Given the description of an element on the screen output the (x, y) to click on. 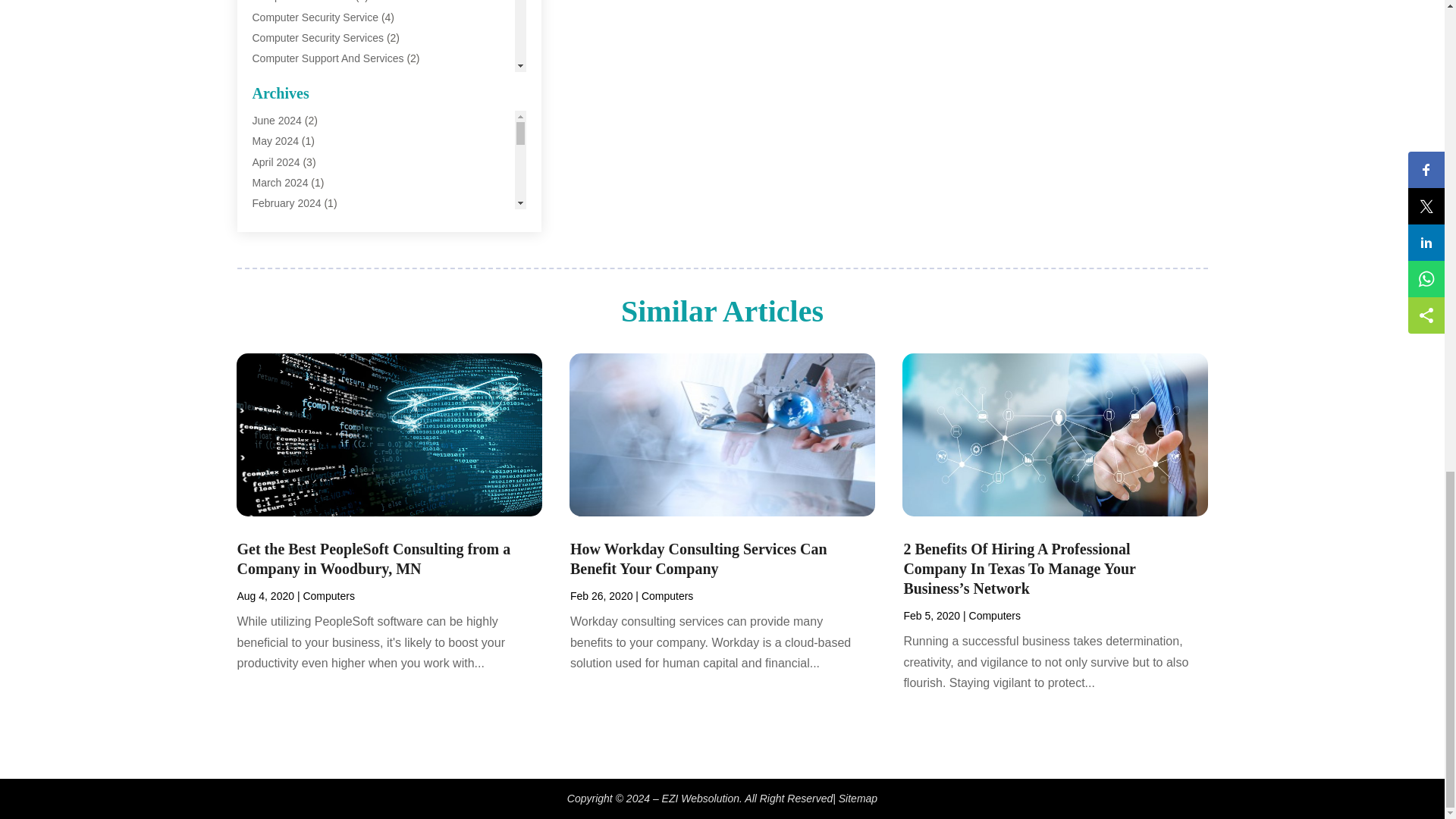
Internet Service Provider (309, 202)
Data Communications (303, 99)
Computer Security Services (317, 37)
IT Support (276, 223)
Supply Chain Management (315, 305)
Computers (276, 78)
Web Development Software (317, 367)
Information Technology And Services (338, 141)
Digital Marketing (290, 120)
Internet Marketing (294, 161)
Web Hosting (282, 387)
Web Design (279, 326)
Software Company (296, 264)
Online Marketing (291, 244)
Internet Marketing Service (313, 182)
